Given the description of an element on the screen output the (x, y) to click on. 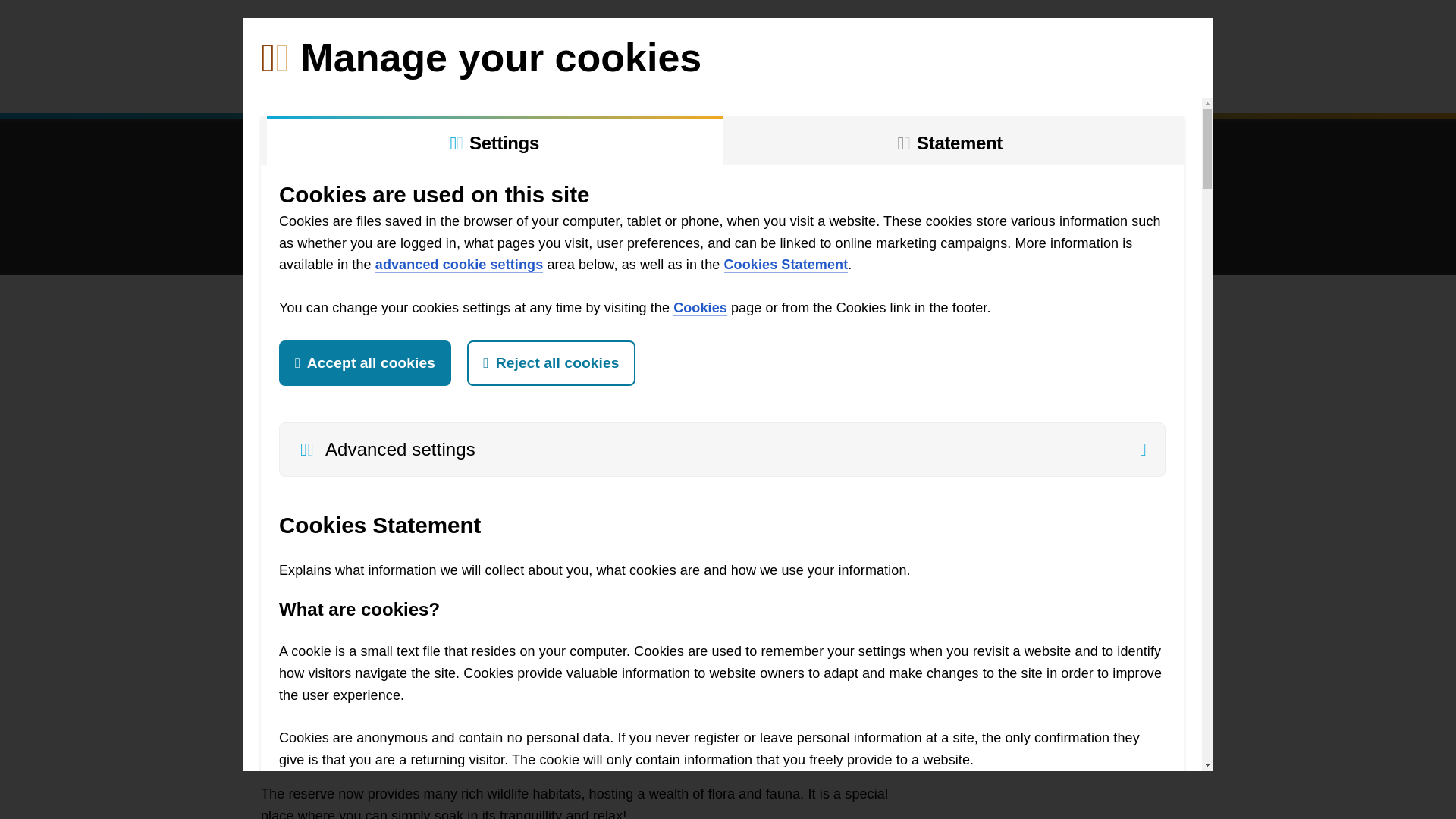
Directory of beaches, parks and reserves in the East Riding (1185, 32)
Conservation and Safety (687, 83)
Countryside (538, 83)
Home (283, 83)
Coast (443, 83)
Contact (1039, 83)
Volunteering (356, 83)
List of East Riding Culture and Leisure sites (379, 33)
What's on (831, 83)
